Given the description of an element on the screen output the (x, y) to click on. 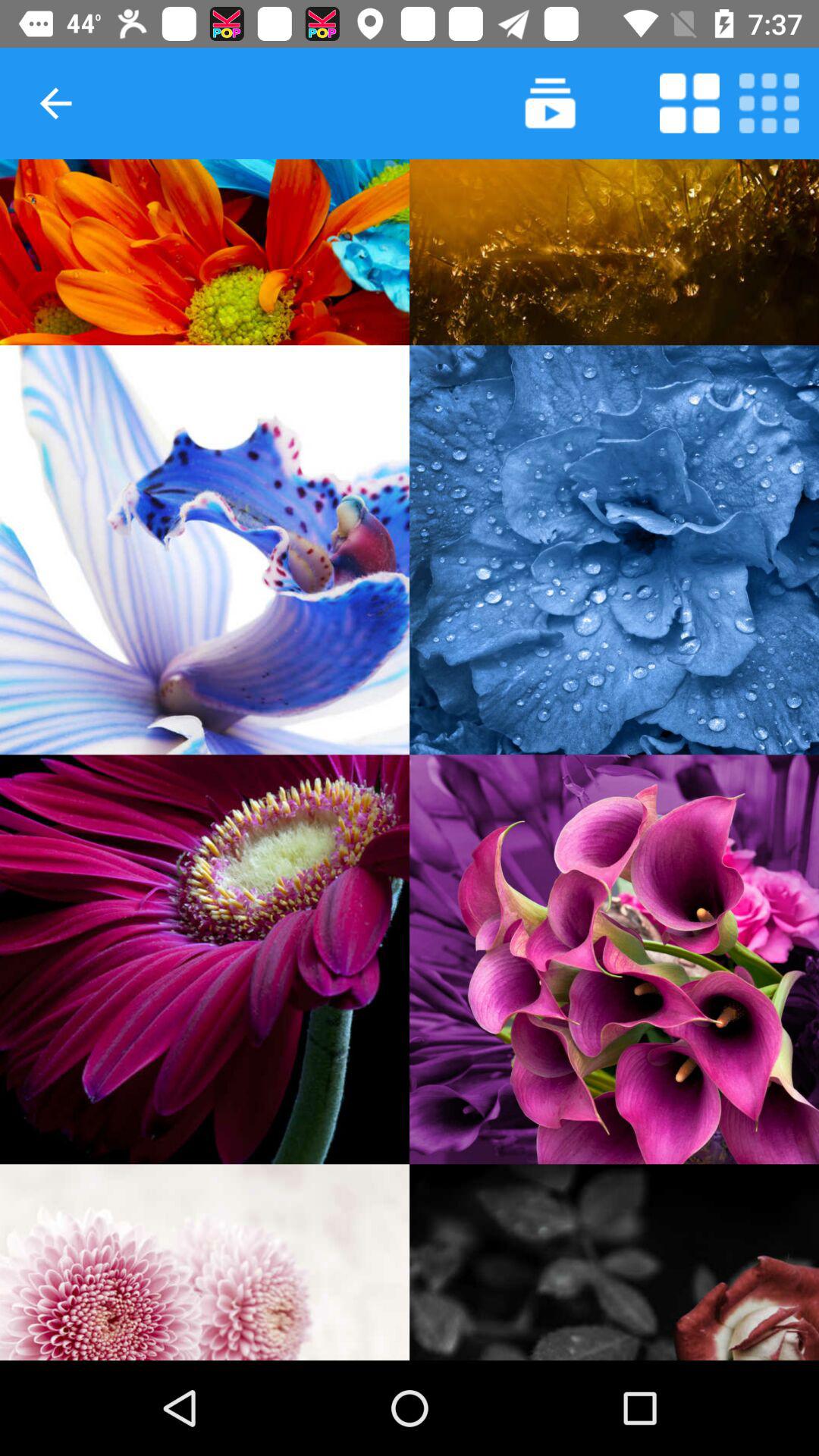
purpose (689, 103)
